Given the description of an element on the screen output the (x, y) to click on. 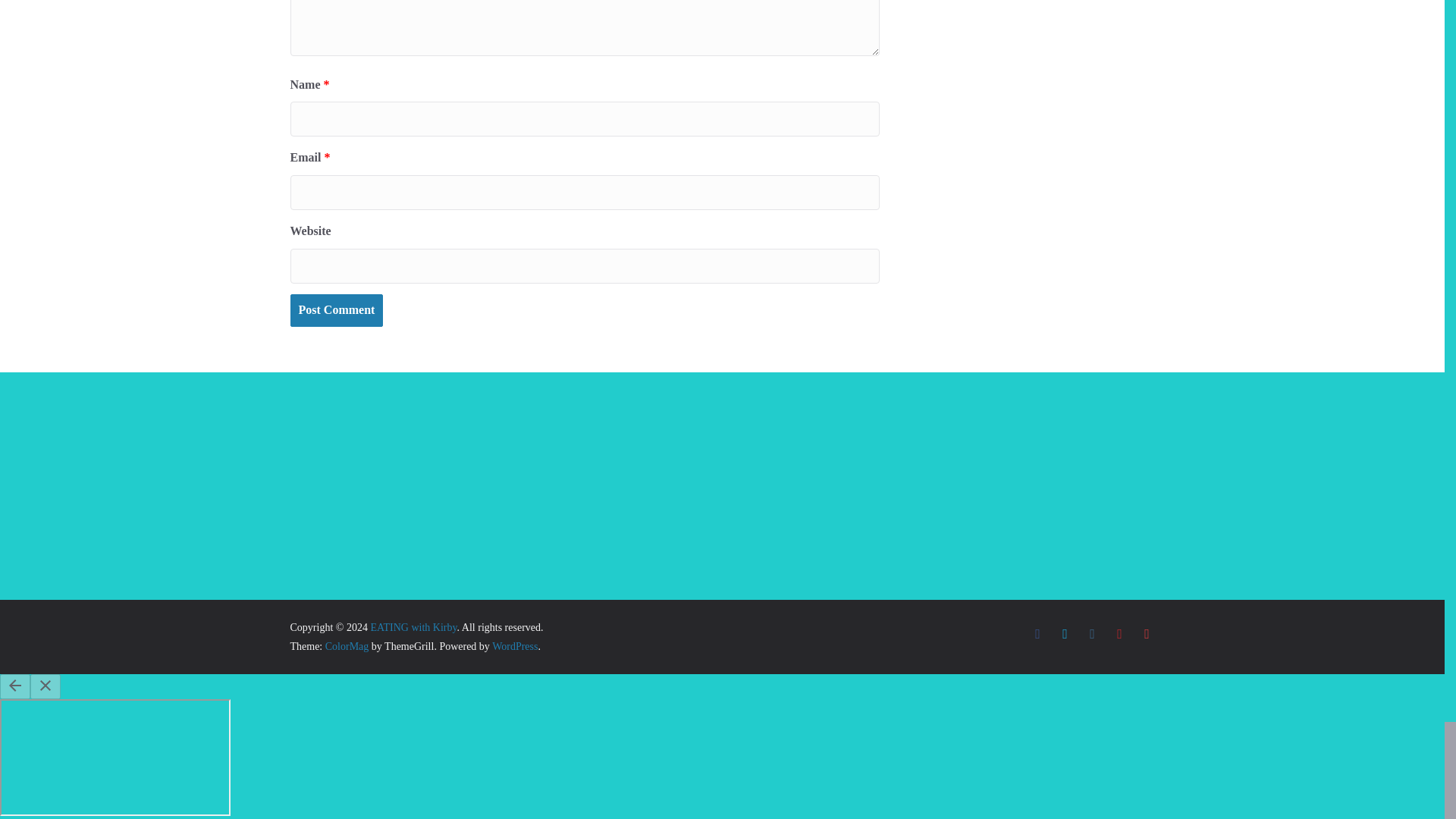
Post Comment (335, 310)
